Given the description of an element on the screen output the (x, y) to click on. 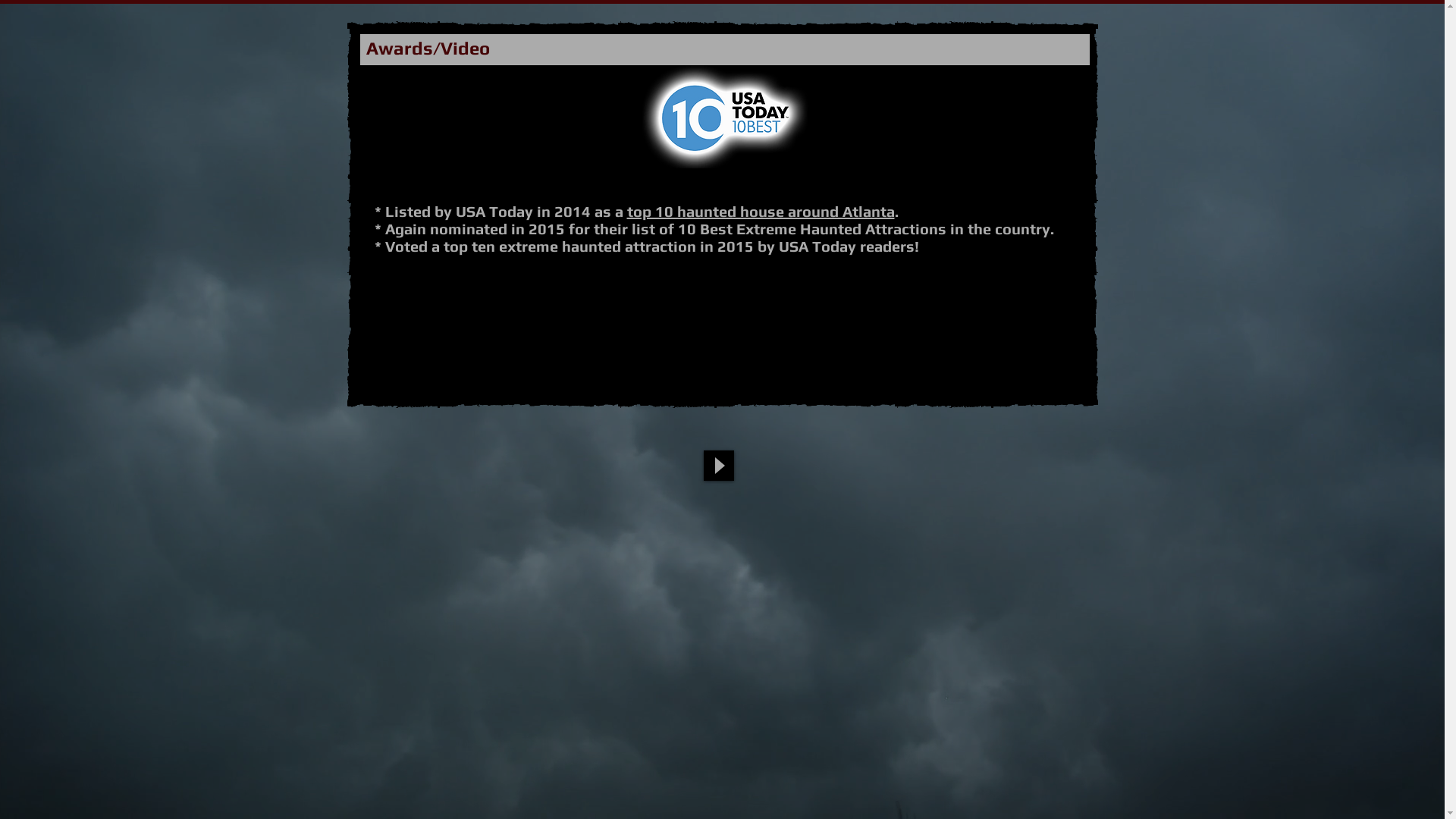
10-best-today.png Element type: hover (724, 116)
top 10 haunted house around Atlanta Element type: text (760, 210)
